Given the description of an element on the screen output the (x, y) to click on. 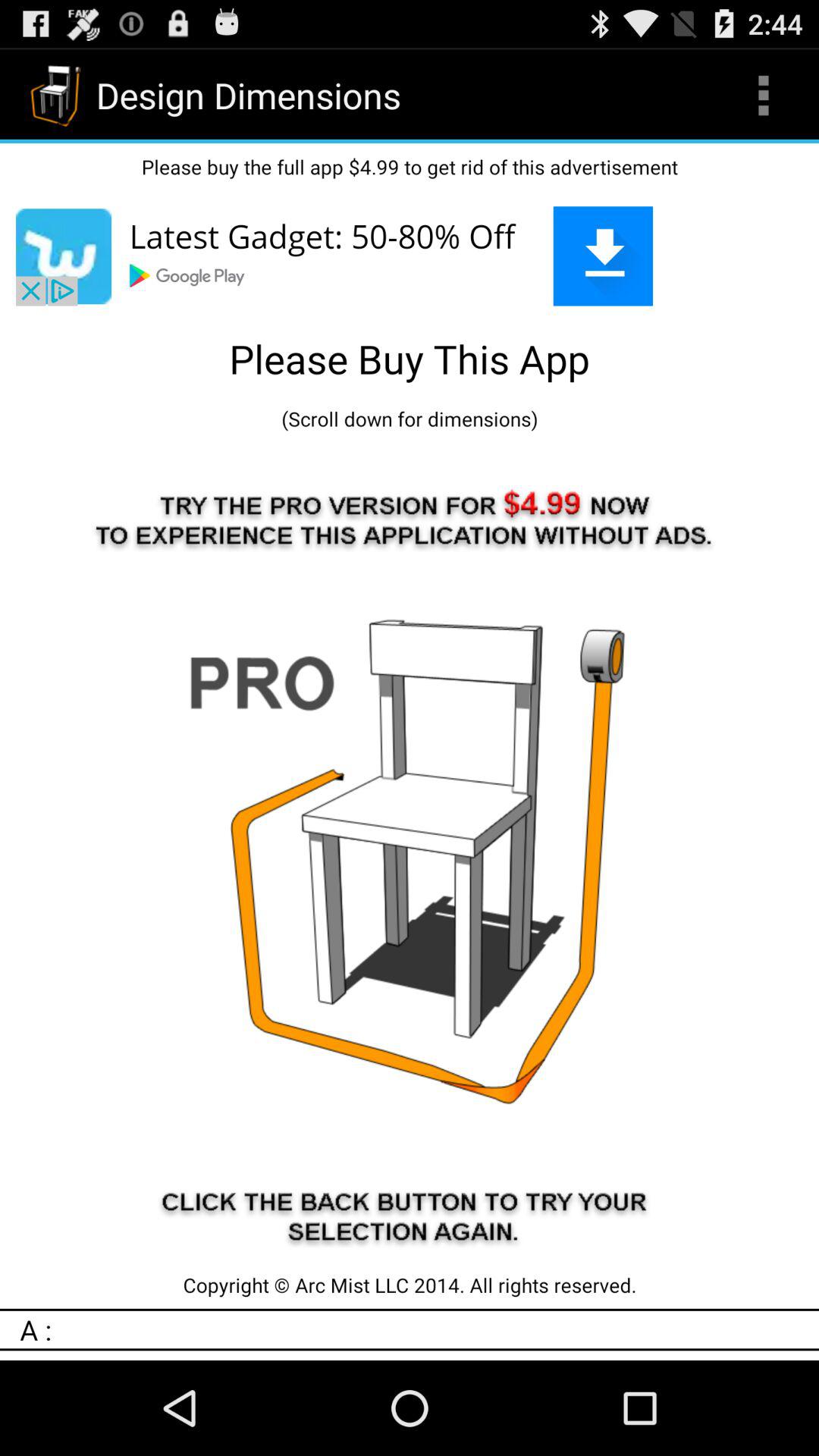
choose the a :  item (419, 1329)
